Given the description of an element on the screen output the (x, y) to click on. 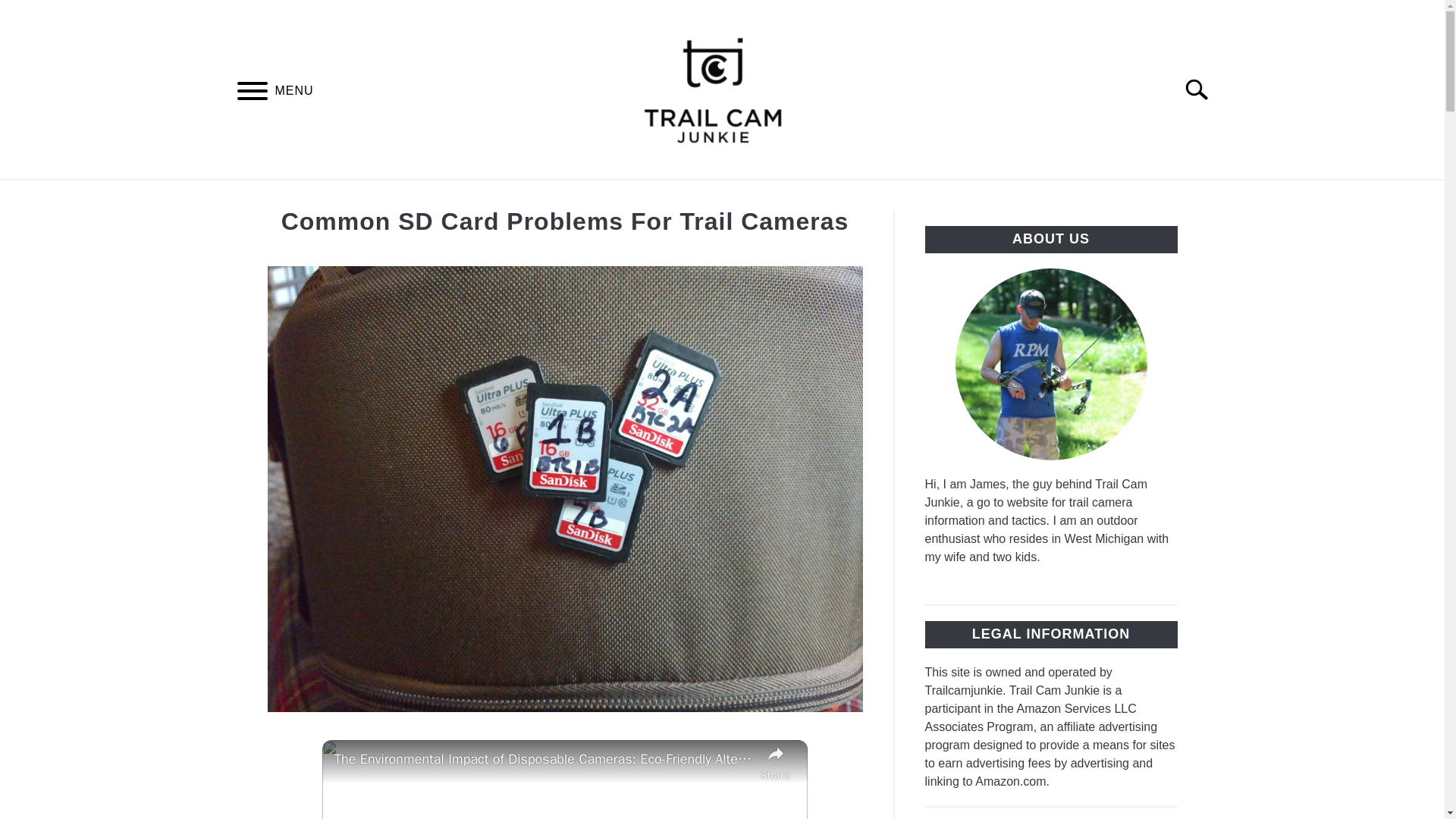
MENU (251, 93)
Search (1203, 89)
